Given the description of an element on the screen output the (x, y) to click on. 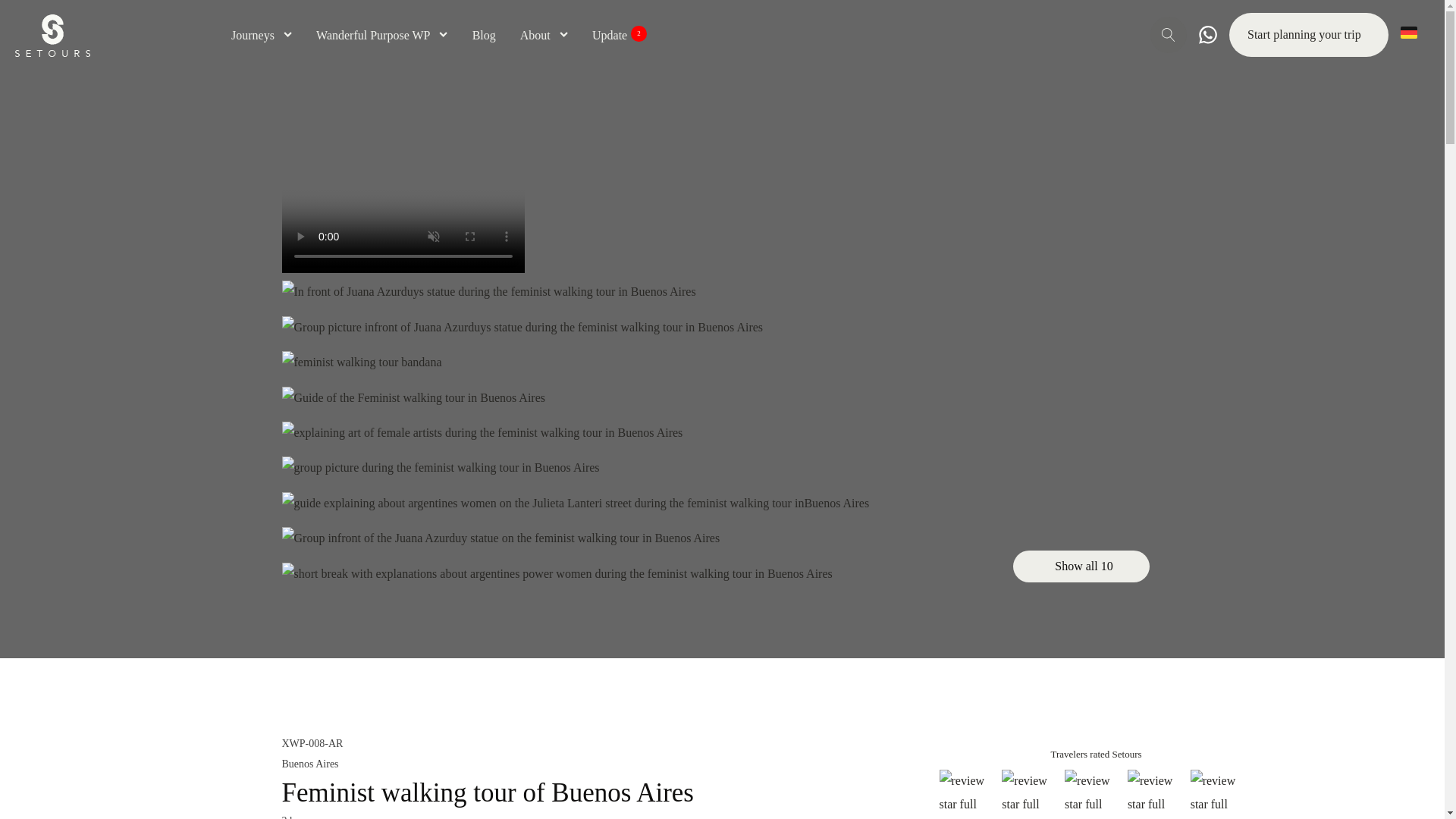
Wanderful Purpose WP (381, 34)
Search (32, 20)
About (543, 34)
Journeys (261, 34)
Blog (483, 34)
